Given the description of an element on the screen output the (x, y) to click on. 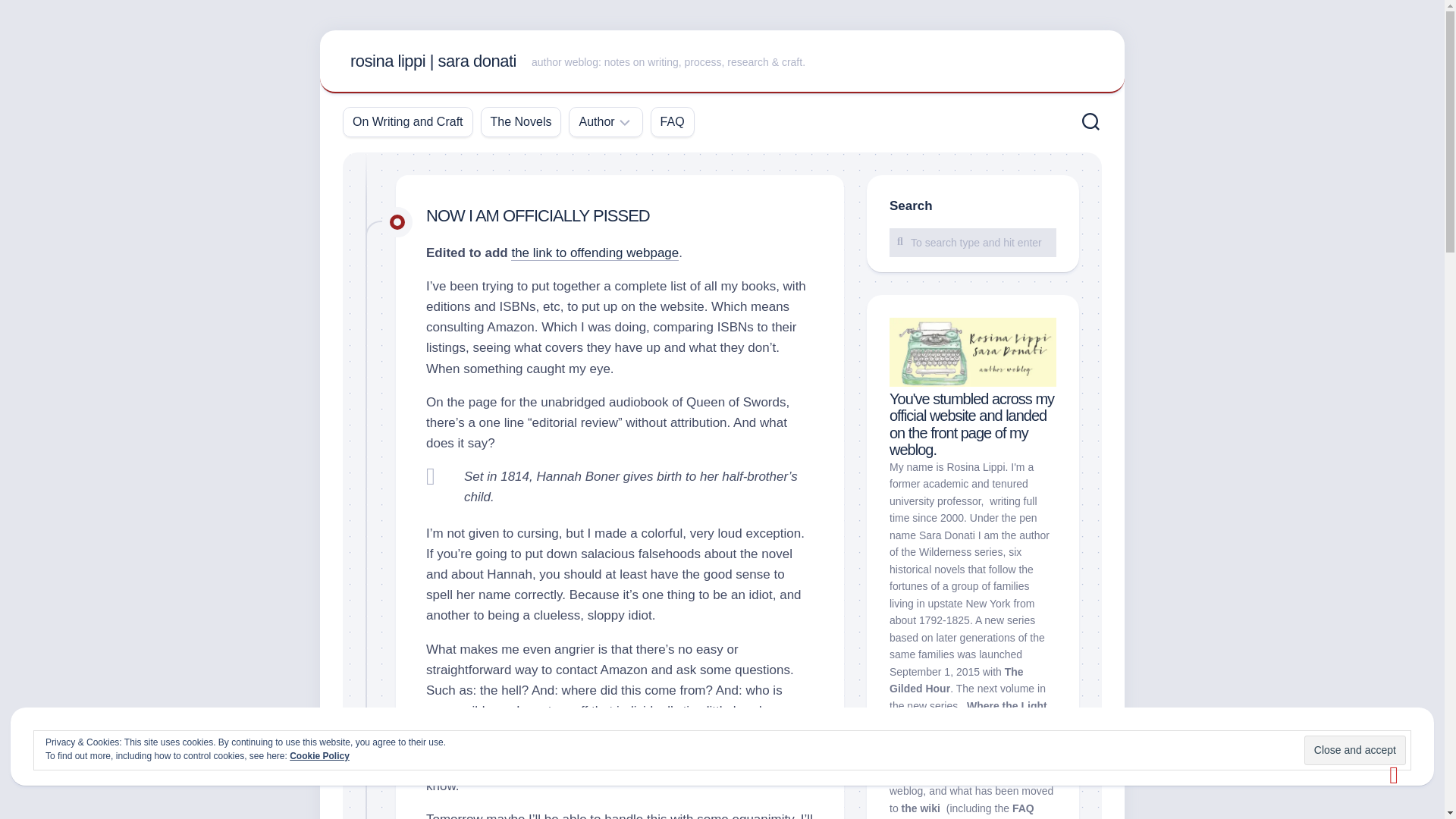
FAQ (672, 121)
the wiki (920, 808)
To search type and hit enter (973, 241)
the link to offending webpage (594, 252)
Author (596, 121)
The Novels (520, 121)
Close and accept (1355, 749)
On Writing and Craft (407, 121)
To search type and hit enter (973, 241)
